Given the description of an element on the screen output the (x, y) to click on. 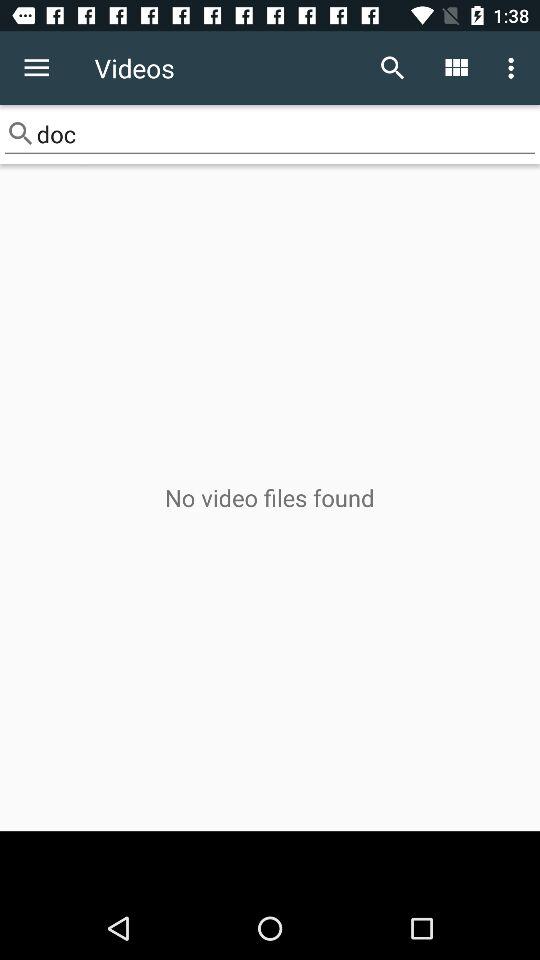
click item to the right of videos (392, 67)
